Given the description of an element on the screen output the (x, y) to click on. 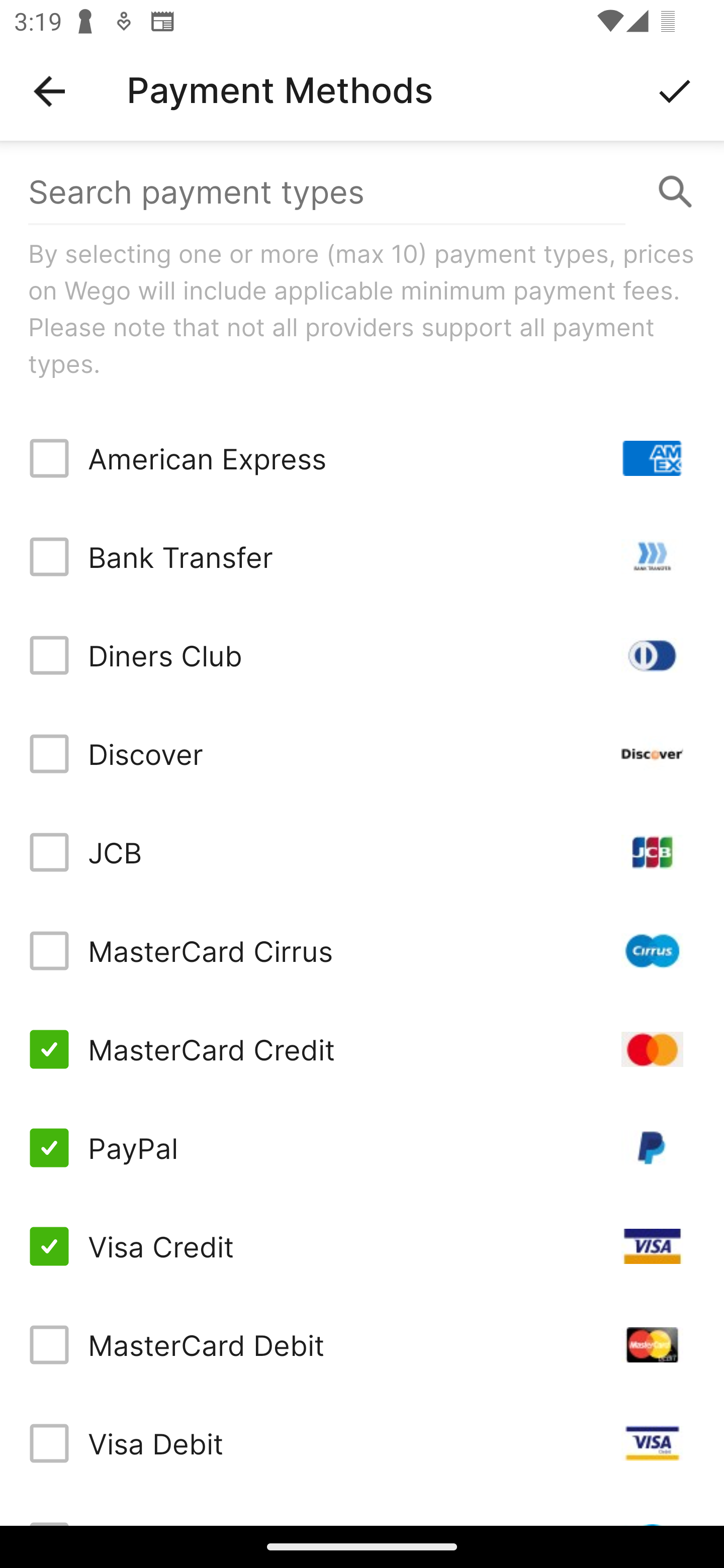
Search payment types  (361, 191)
American Express (362, 458)
Bank Transfer (362, 557)
Diners Club (362, 655)
Discover (362, 753)
JCB (362, 851)
MasterCard Cirrus (362, 950)
MasterCard Credit (362, 1049)
PayPal (362, 1147)
Visa Credit (362, 1245)
MasterCard Debit (362, 1344)
Visa Debit (362, 1442)
